Given the description of an element on the screen output the (x, y) to click on. 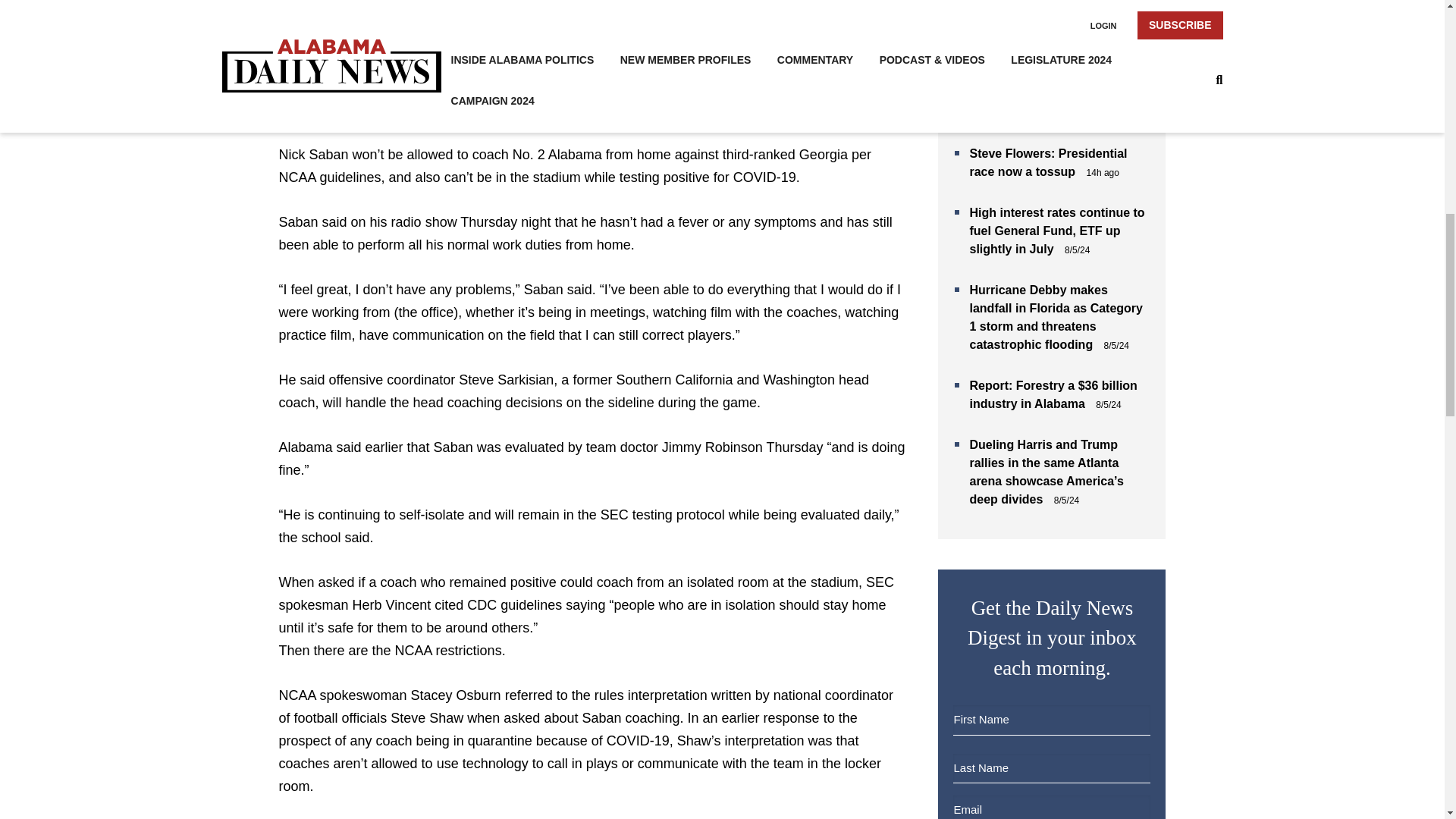
Steve Flowers: Presidential race now a tossup (1047, 162)
Steve Flowers: Presidential race now a tossup (1047, 162)
ASSOCIATED PRESS (379, 20)
